Given the description of an element on the screen output the (x, y) to click on. 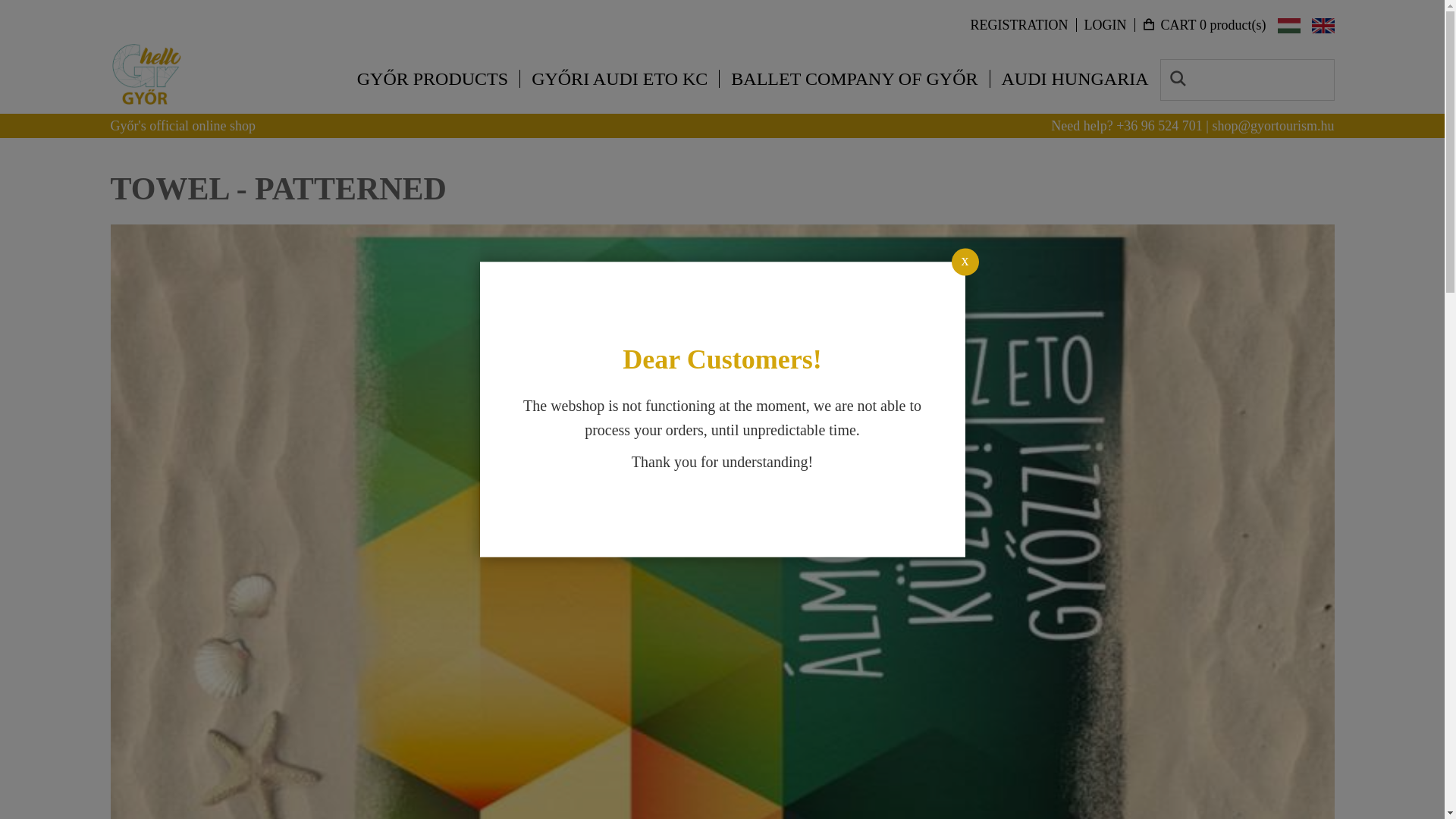
bezar (964, 262)
REGISTRATION (1019, 24)
AUDI HUNGARIA (1075, 78)
Search (1177, 78)
Search (1177, 78)
